Given the description of an element on the screen output the (x, y) to click on. 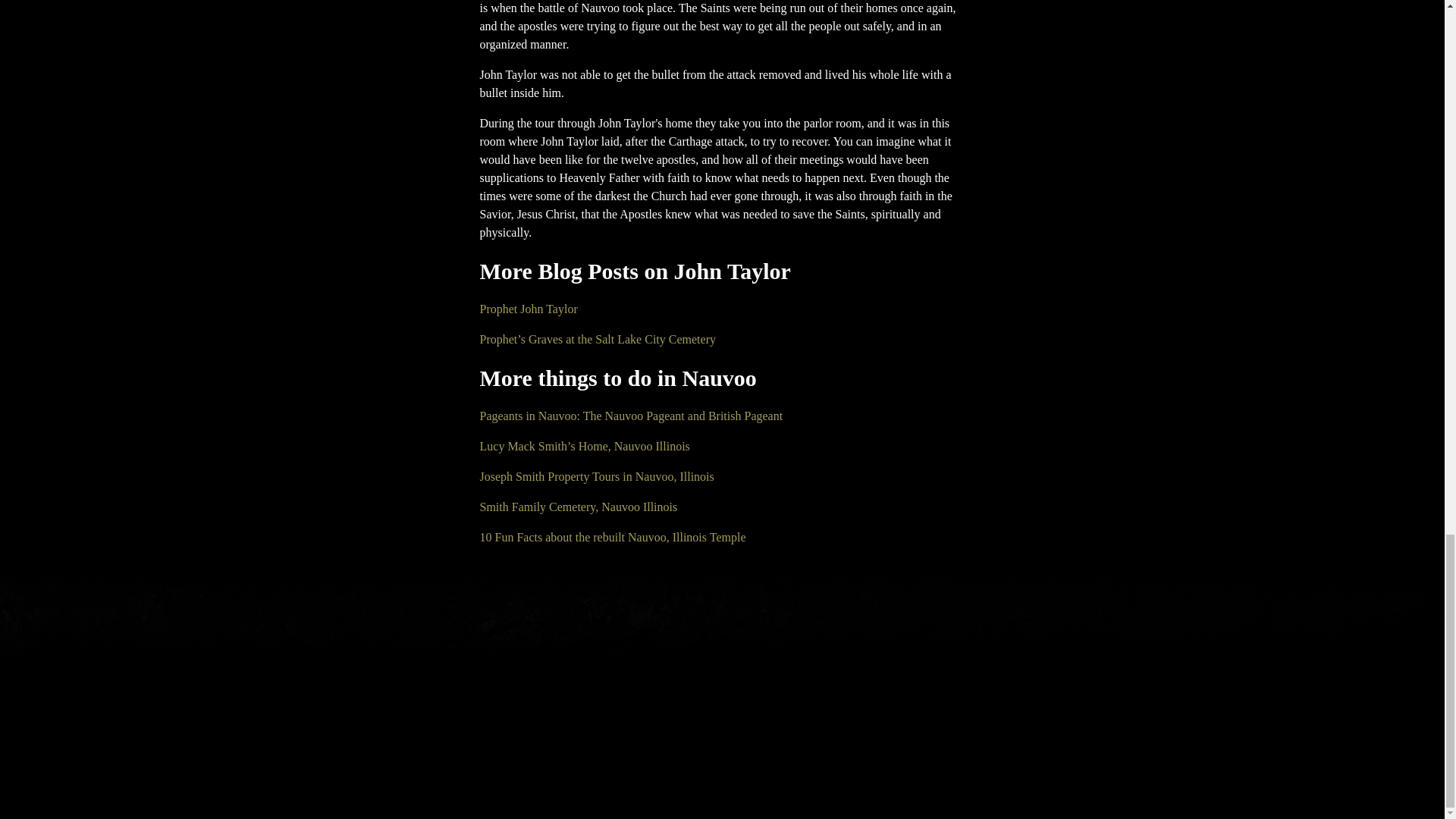
Smith Family Cemetery, Nauvoo Illinois (578, 506)
10 Fun Facts about the rebuilt Nauvoo, Illinois Temple (612, 536)
Joseph Smith Property Tours in Nauvoo, Illinois (596, 476)
Prophet John Taylor (527, 308)
Pageants in Nauvoo: The Nauvoo Pageant and British Pageant (631, 415)
